Given the description of an element on the screen output the (x, y) to click on. 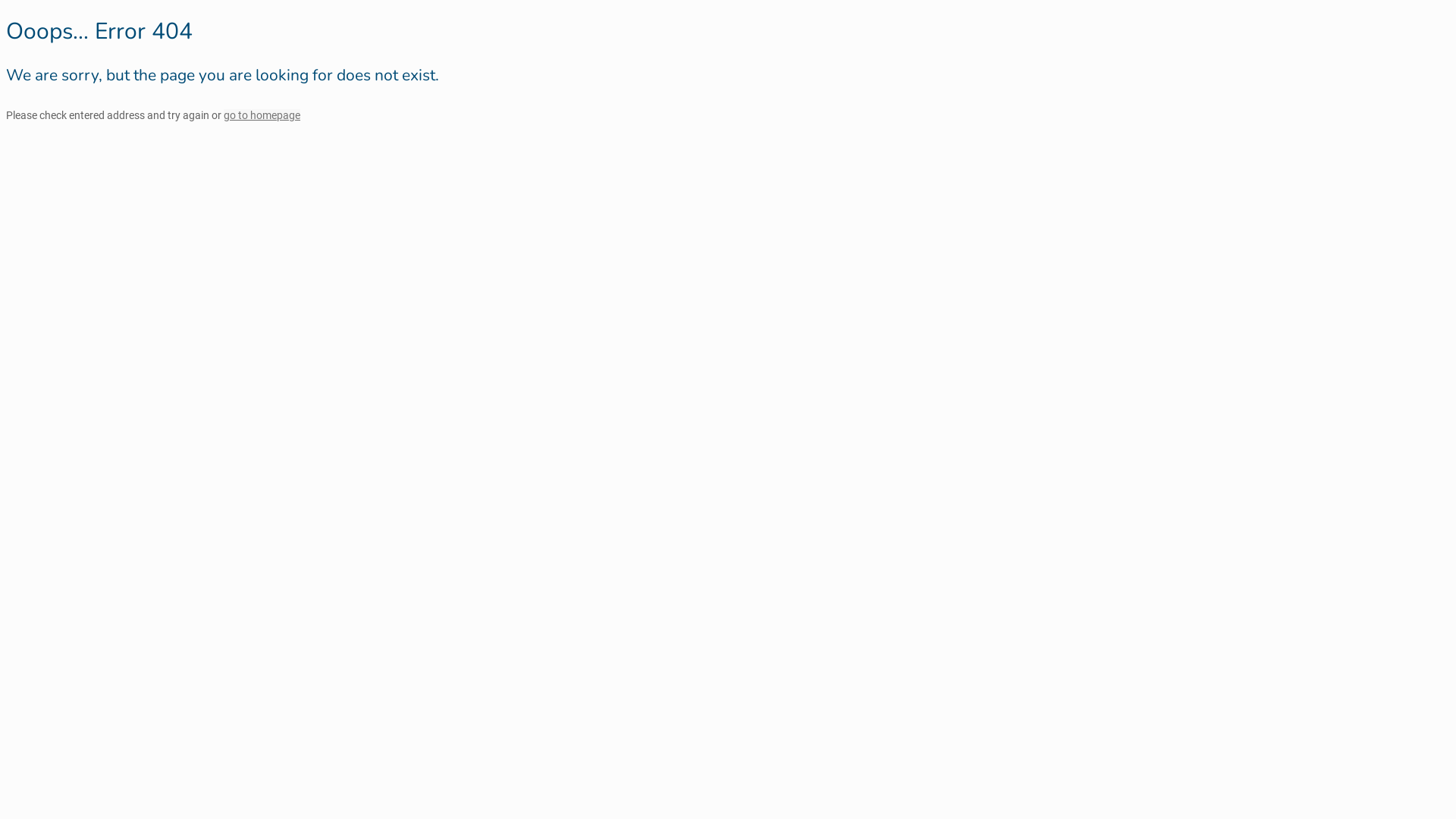
go to homepage Element type: text (261, 115)
